Given the description of an element on the screen output the (x, y) to click on. 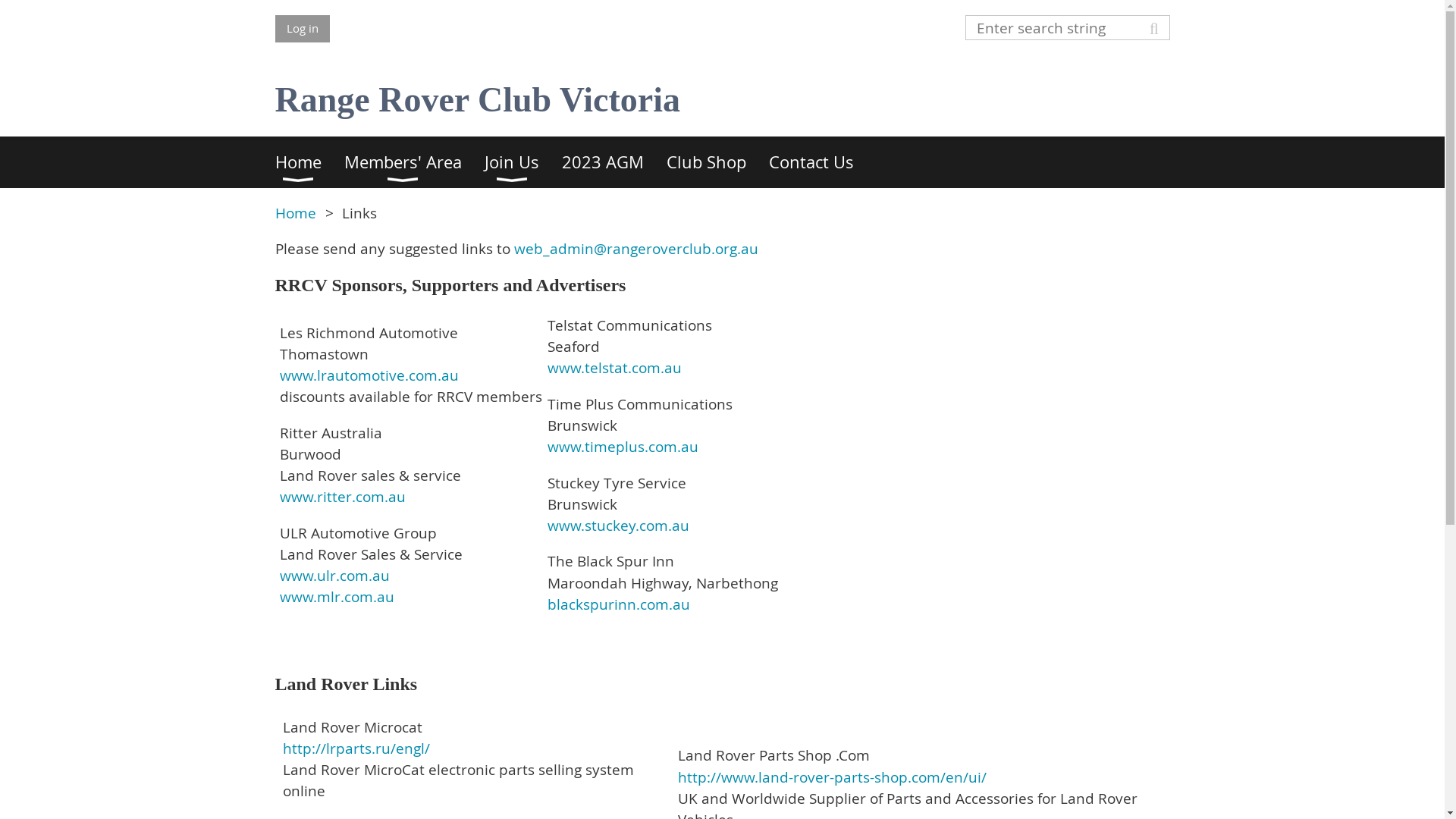
2023 AGM Element type: text (613, 162)
www.stuckey.com.au Element type: text (618, 525)
www.lrautomotive.com.au Element type: text (368, 375)
Contact Us Element type: text (822, 162)
www.telstat.com.au Element type: text (614, 367)
Club Shop Element type: text (716, 162)
web_admin@rangeroverclub.org.au Element type: text (636, 248)
www.ulr.com.au Element type: text (334, 575)
Members' Area Element type: text (414, 162)
http://lrparts.ru/engl/ Element type: text (355, 748)
www.ritter.com.au Element type: text (341, 496)
Log in Element type: text (301, 28)
Home Element type: text (294, 212)
http://www.land-rover-parts-shop.com/en/ui/ Element type: text (831, 777)
Home Element type: text (308, 162)
www.mlr.com.au Element type: text (336, 596)
www.timeplus.com.au Element type: text (622, 446)
blackspurinn.com.au Element type: text (618, 604)
Join Us Element type: text (522, 162)
